Given the description of an element on the screen output the (x, y) to click on. 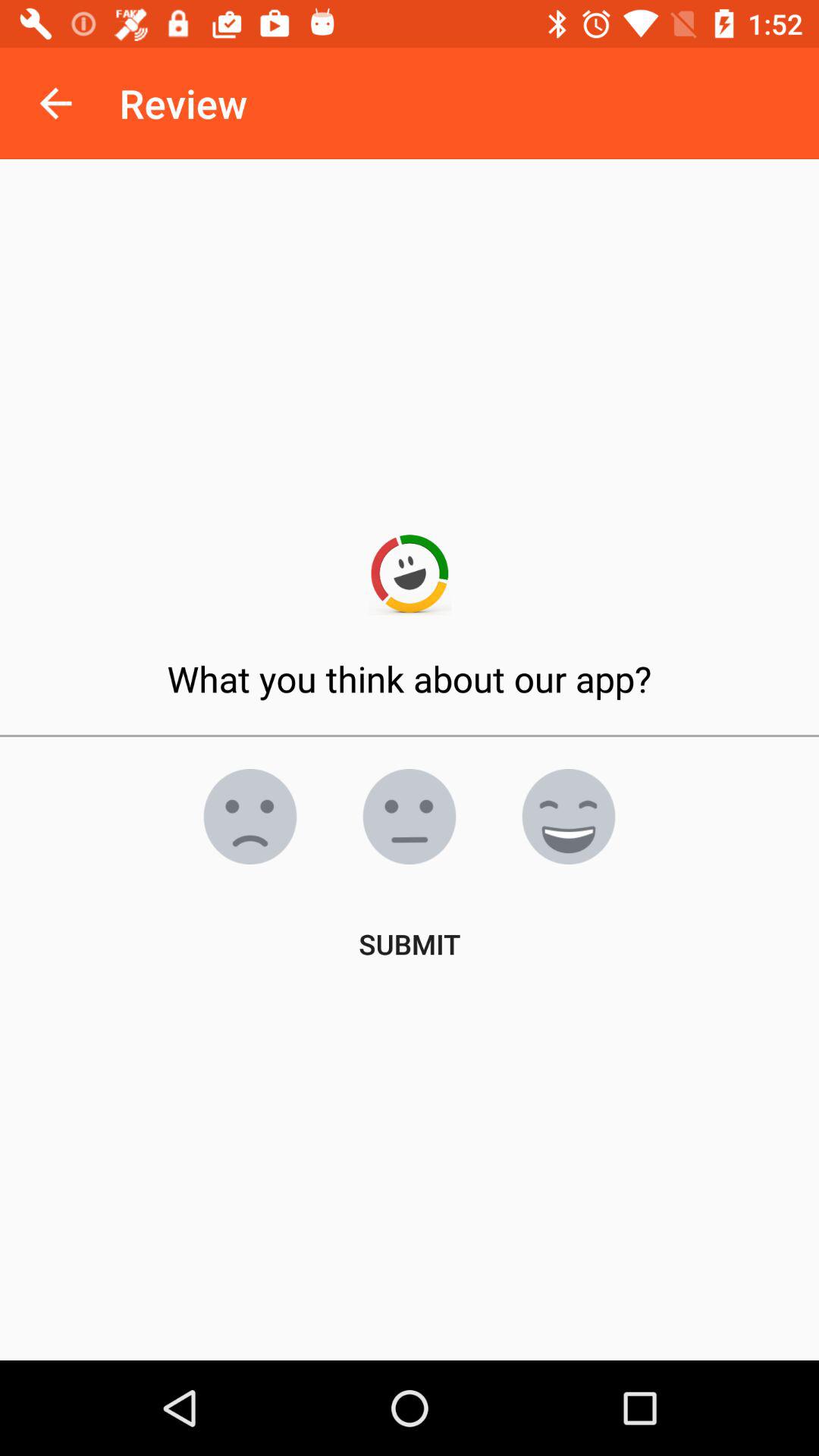
select the item on the right (568, 816)
